Given the description of an element on the screen output the (x, y) to click on. 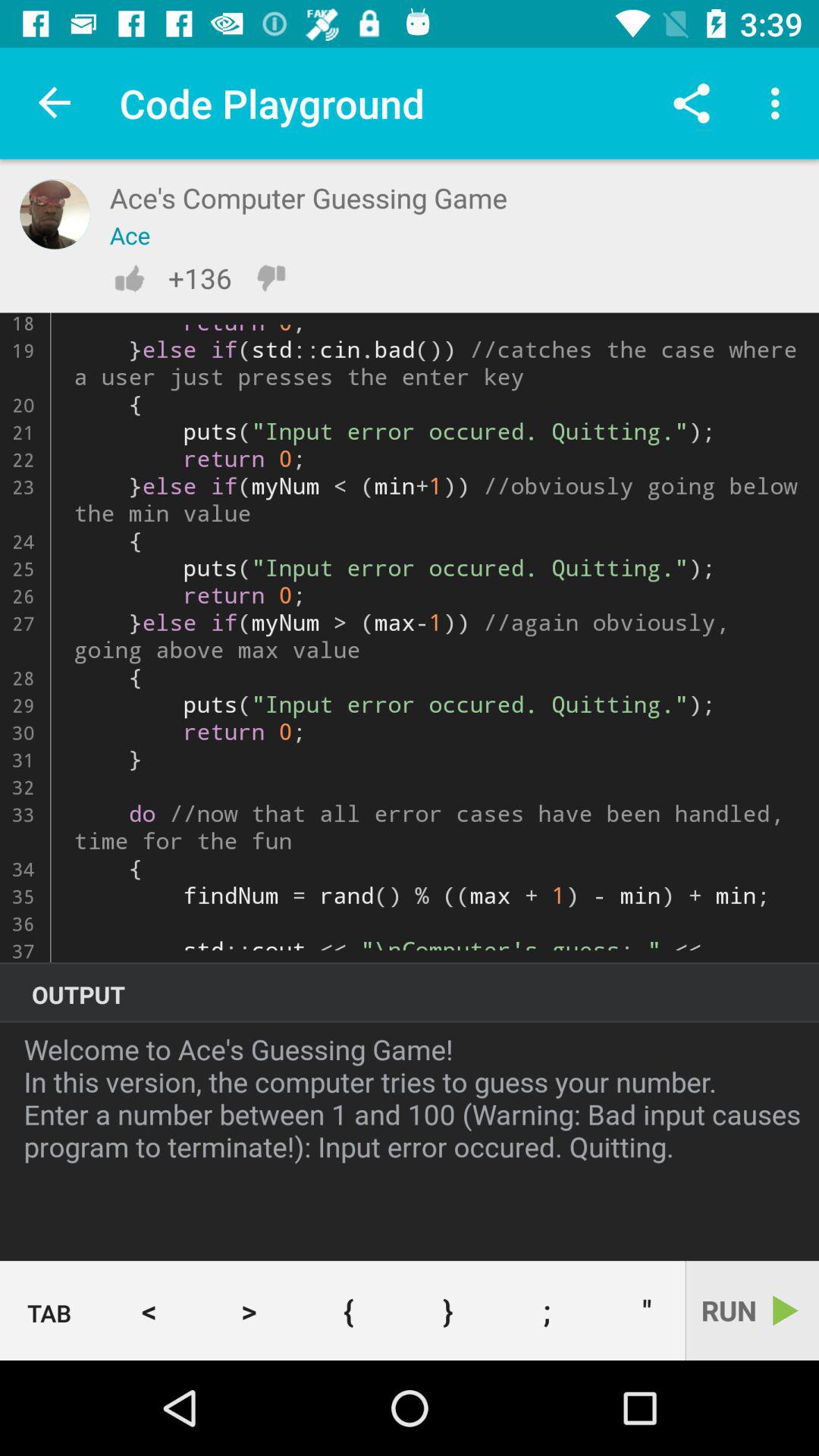
open the > icon (248, 1310)
